Given the description of an element on the screen output the (x, y) to click on. 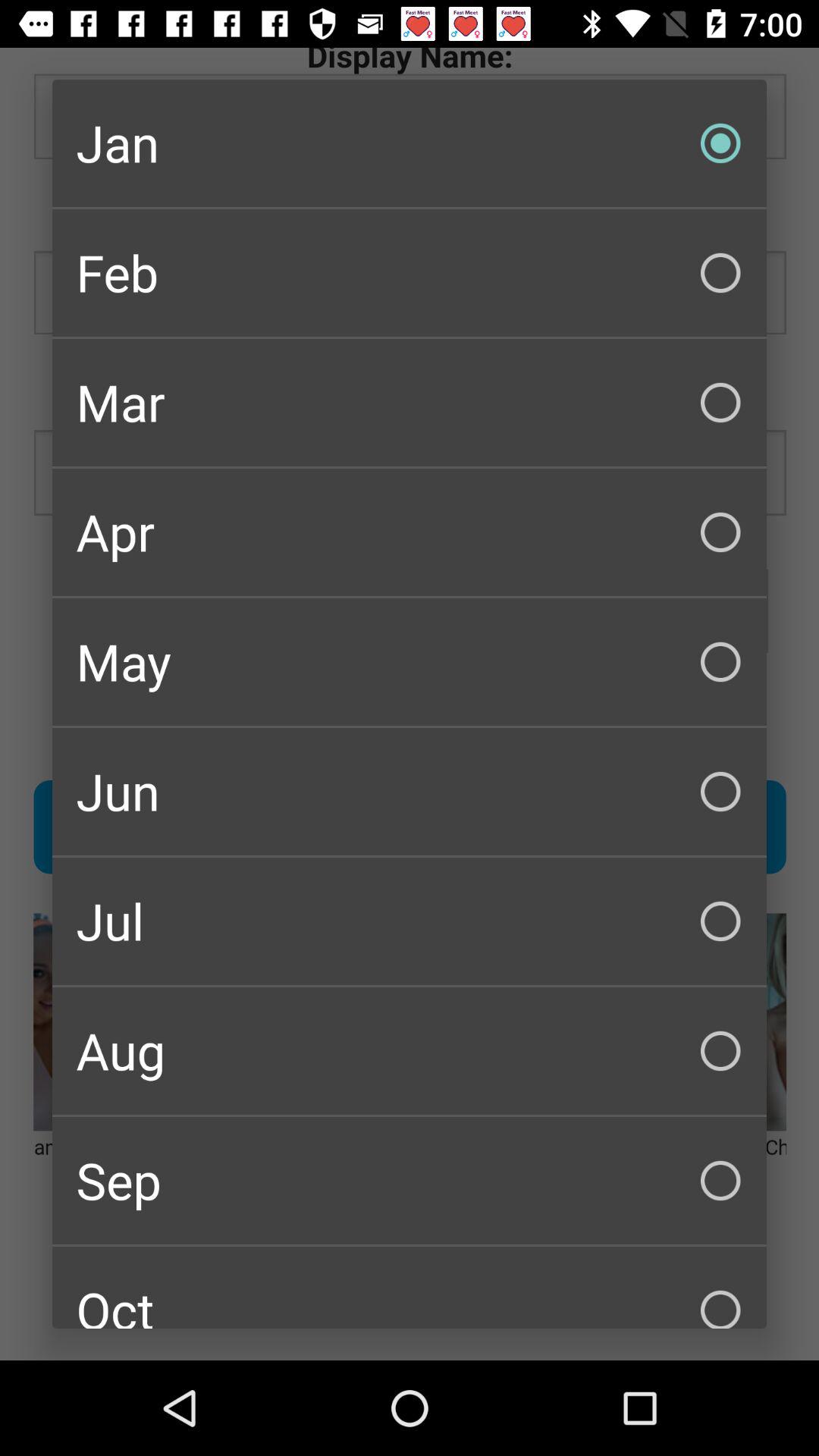
choose mar icon (409, 402)
